Given the description of an element on the screen output the (x, y) to click on. 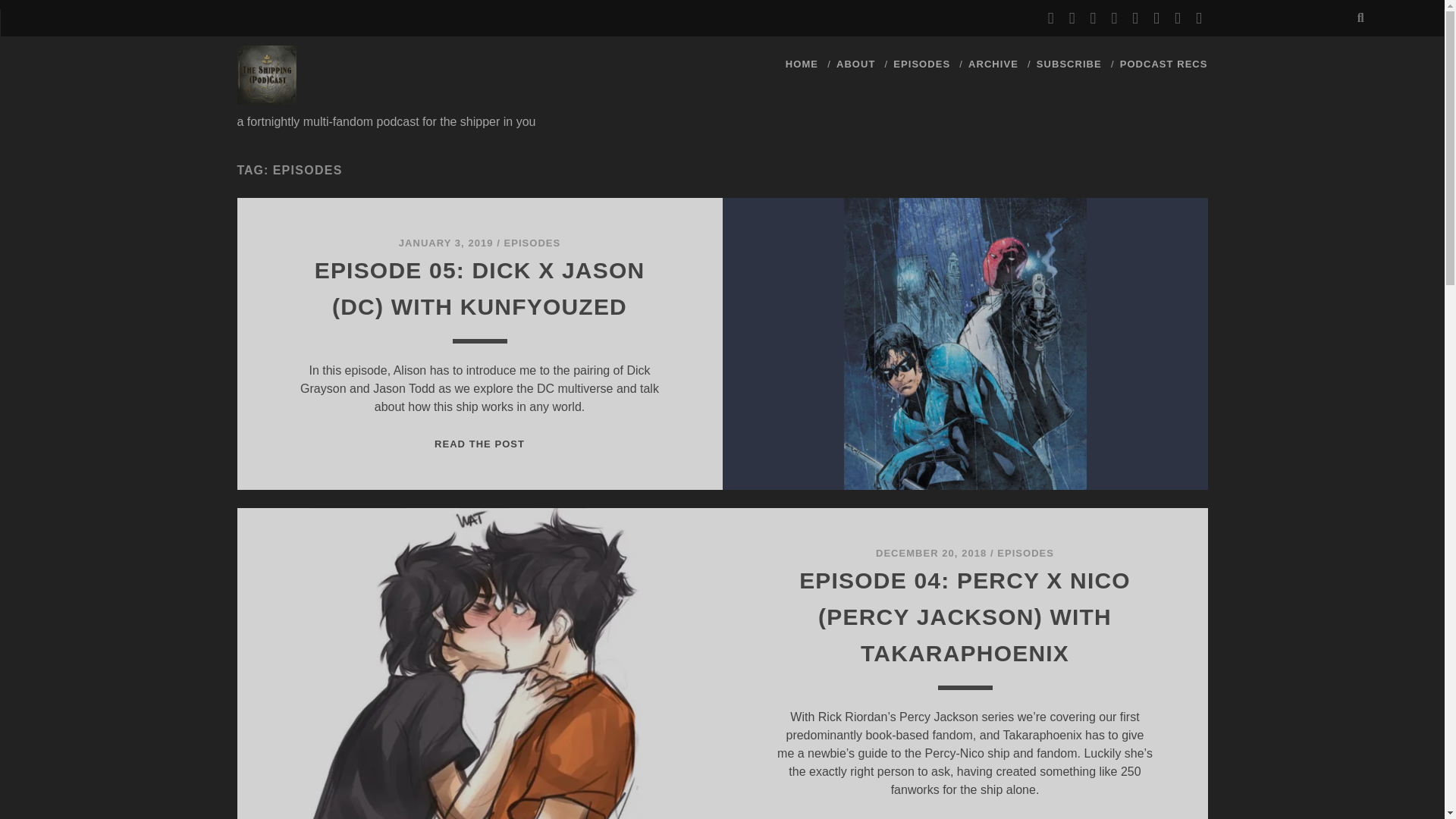
EPISODES (921, 64)
EPISODES (531, 242)
EPISODES (1025, 552)
ARCHIVE (992, 64)
ABOUT (855, 64)
SUBSCRIBE (1069, 64)
HOME (802, 64)
PODCAST RECS (1163, 64)
